Given the description of an element on the screen output the (x, y) to click on. 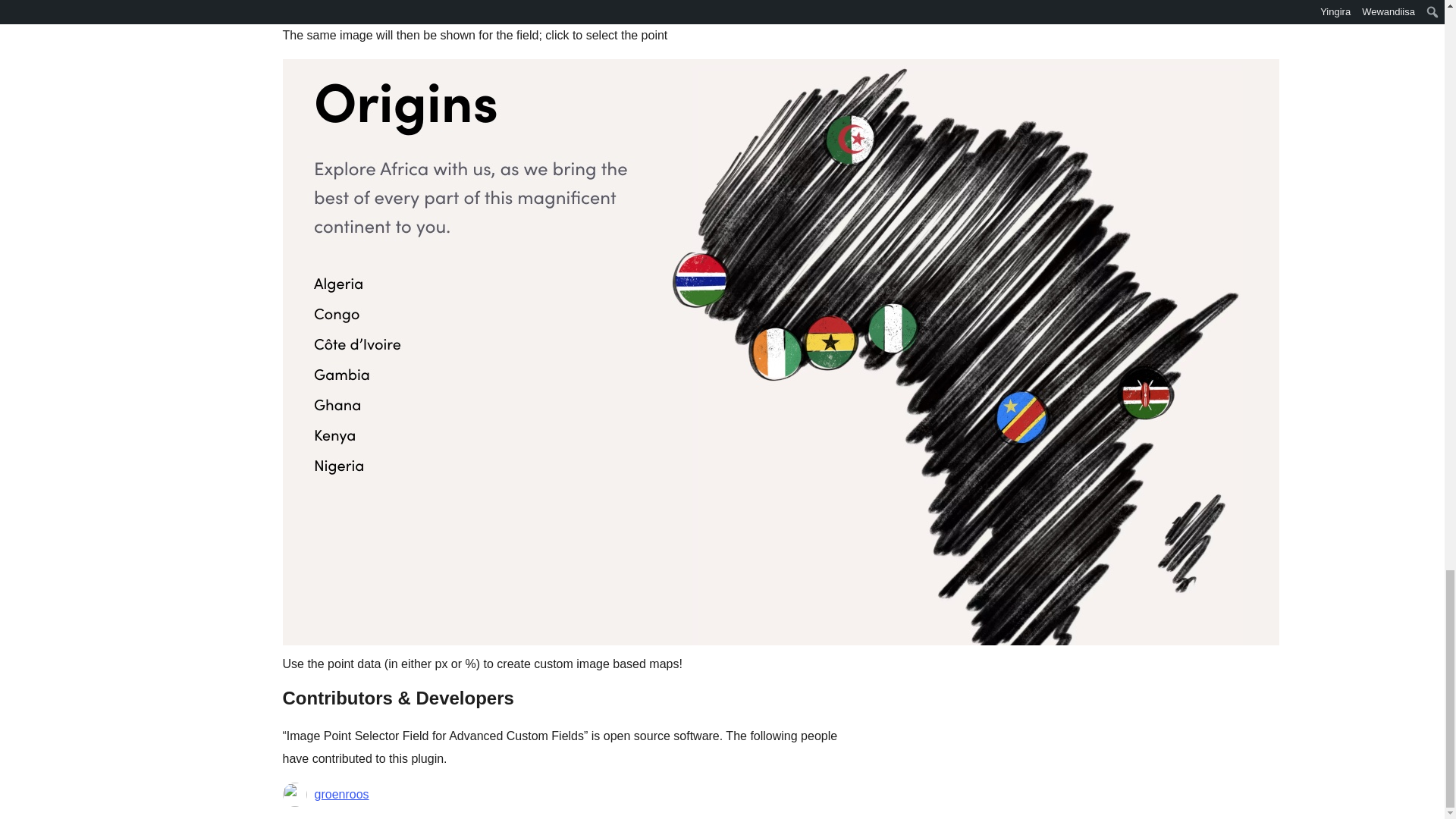
groenroos (341, 793)
